Given the description of an element on the screen output the (x, y) to click on. 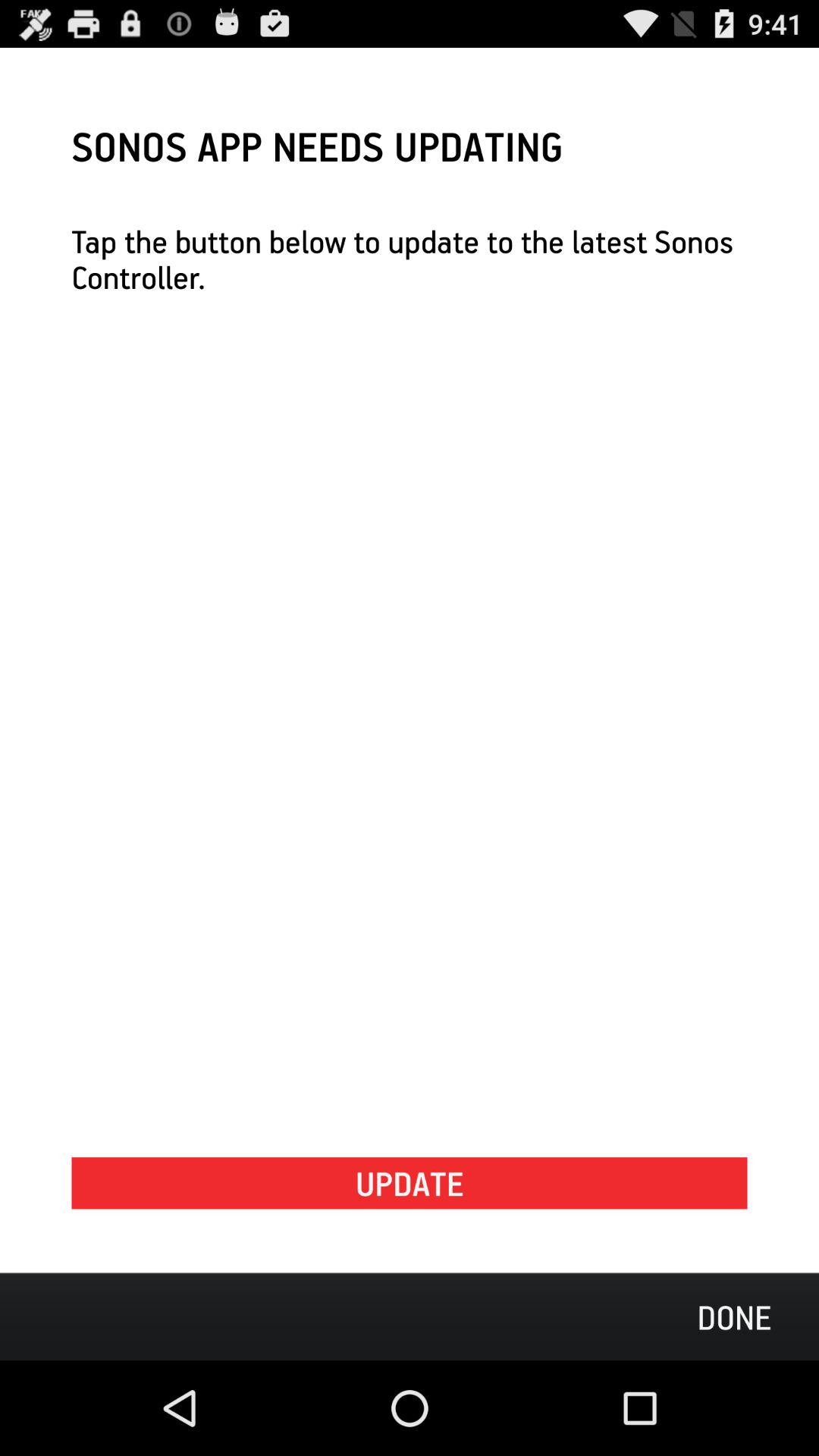
select the icon below update icon (734, 1316)
